Given the description of an element on the screen output the (x, y) to click on. 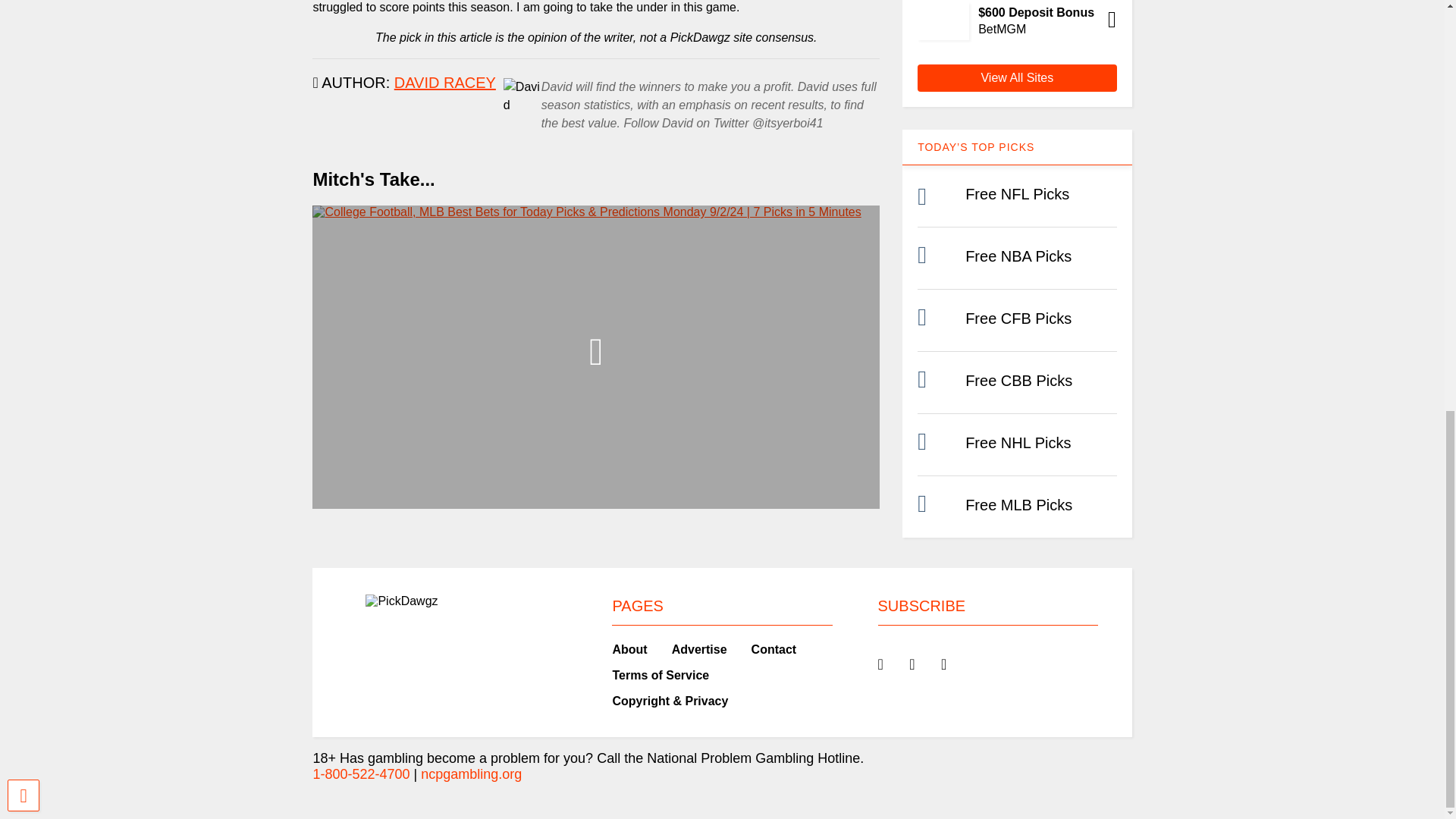
author profile (445, 82)
Free MLB Picks (1018, 504)
Free NHL Picks (1017, 442)
Free CBB Picks (1018, 380)
Free NBA Picks (1018, 256)
Free CFB Picks (1018, 318)
Free NFL Picks (1016, 193)
